Given the description of an element on the screen output the (x, y) to click on. 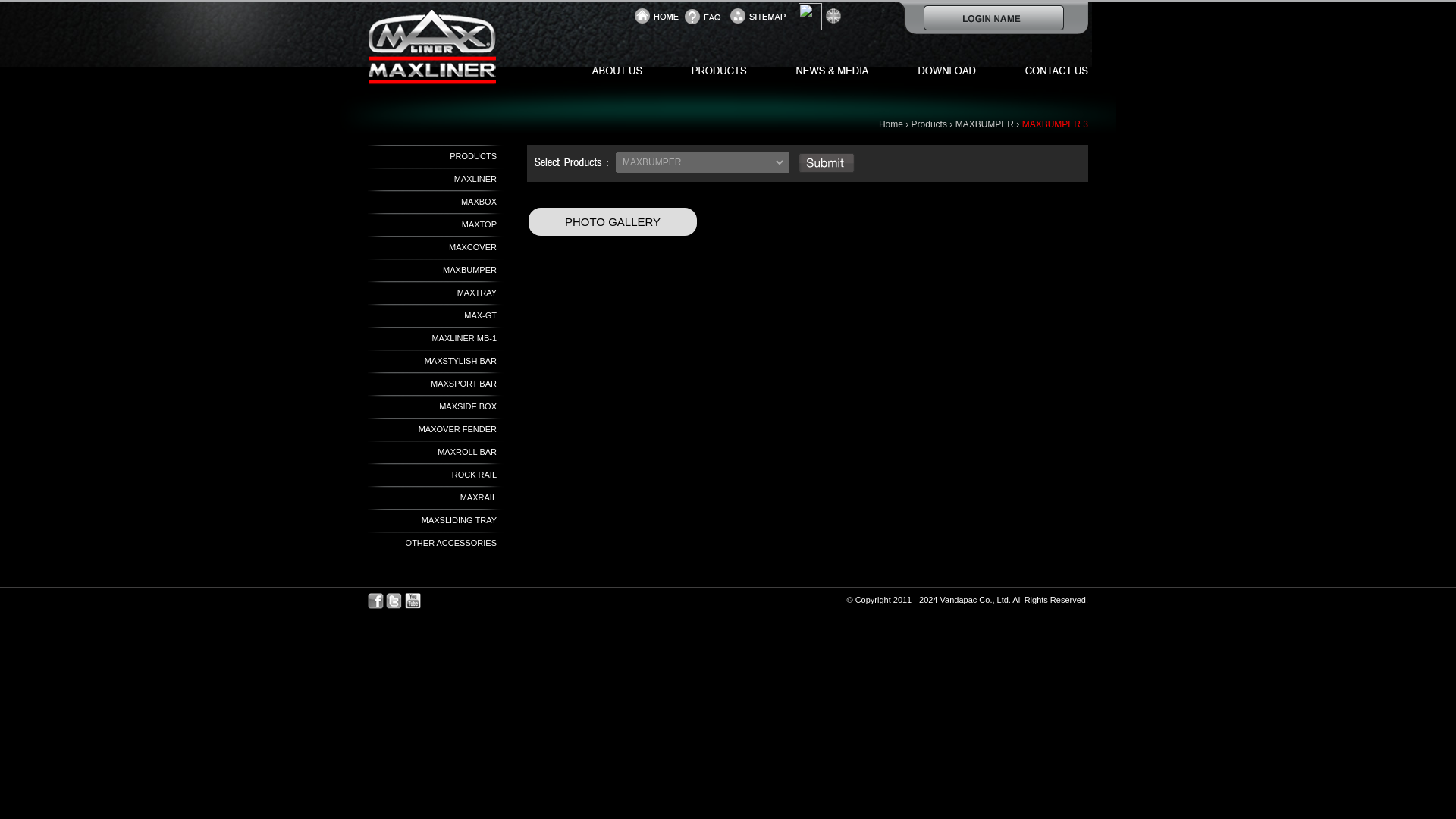
MAXSIDE BOX (467, 406)
MAX-GT (480, 315)
MAXSTYLISH BAR (460, 360)
MAXLINER MB-1 (463, 338)
MAXSLIDING TRAY (459, 519)
FAQ (706, 15)
MAXBUMPER (984, 123)
ROCK RAIL (473, 474)
MAXBOX (478, 201)
PHOTO GALLERY (612, 221)
SITEMAP (759, 15)
MAXCOVER (472, 246)
MAXTOP (478, 224)
DOWNLOAD (937, 69)
CONTACT US (1039, 69)
